Given the description of an element on the screen output the (x, y) to click on. 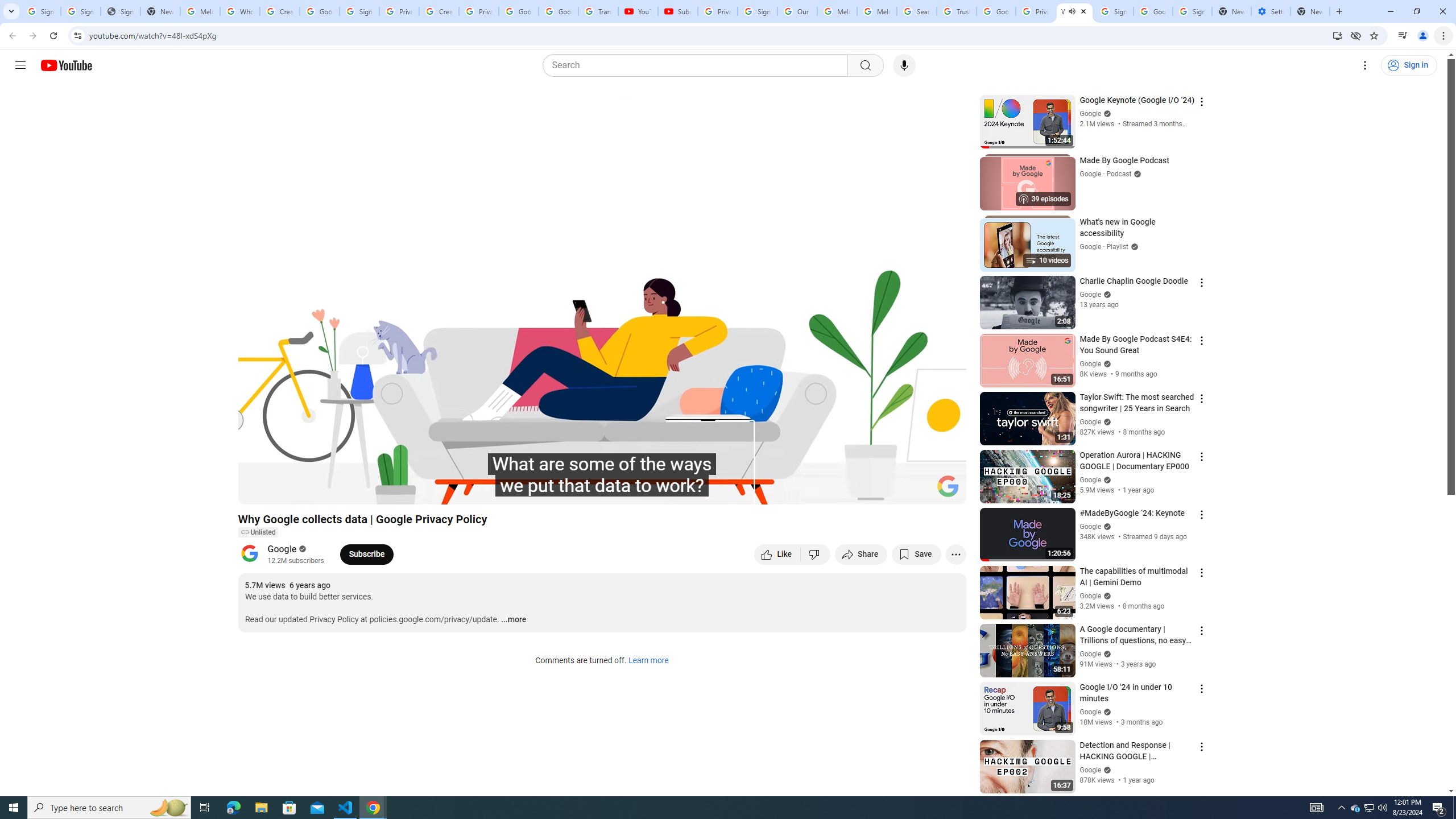
Pause (k) (257, 490)
YouTube Home (66, 65)
Subscriptions - YouTube (677, 11)
Search our Doodle Library Collection - Google Doodles (916, 11)
Seek slider (601, 476)
Sign in - Google Accounts (80, 11)
